Given the description of an element on the screen output the (x, y) to click on. 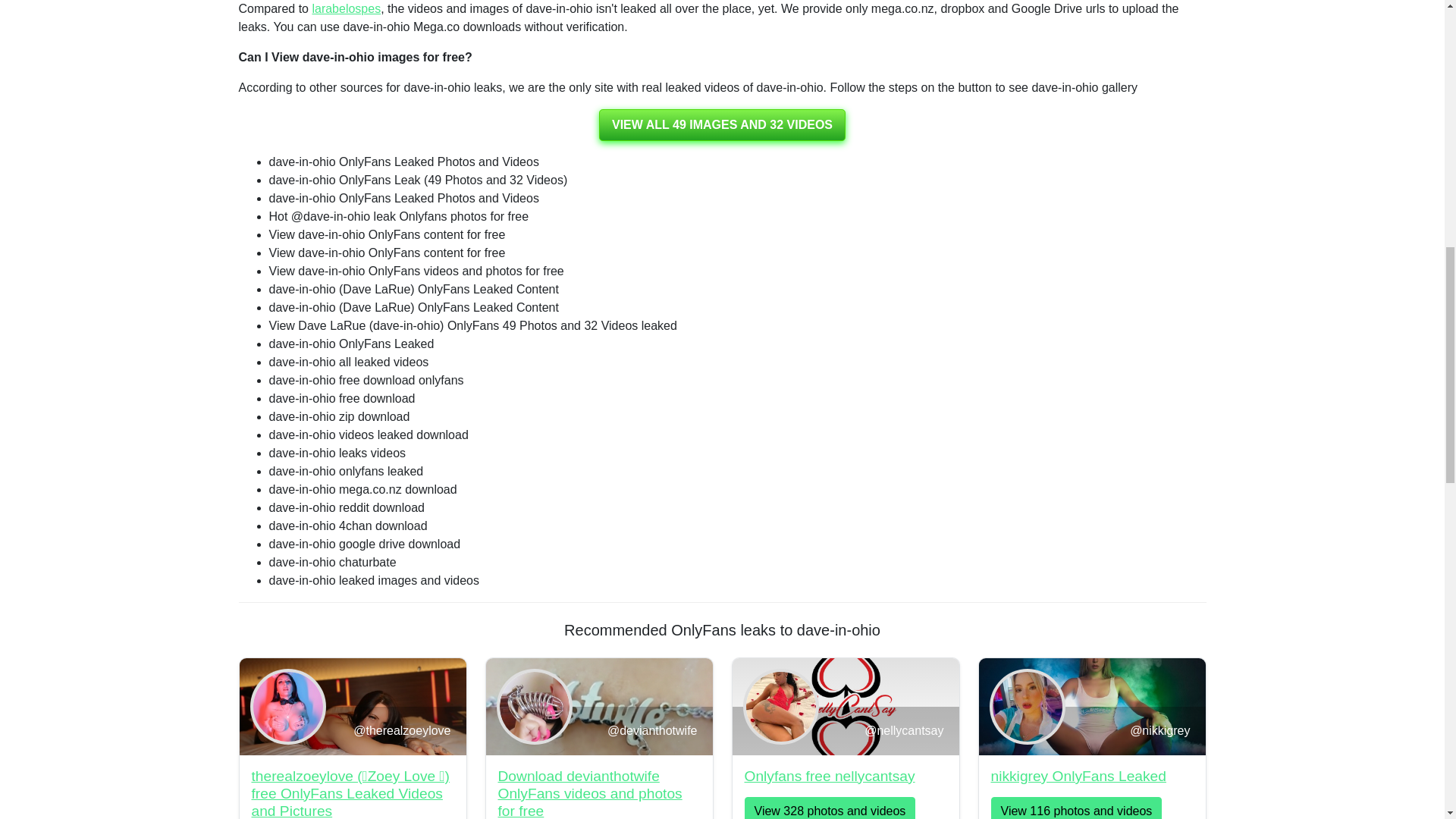
larabelospes (345, 8)
VIEW ALL 49 IMAGES AND 32 VIDEOS (721, 124)
